Given the description of an element on the screen output the (x, y) to click on. 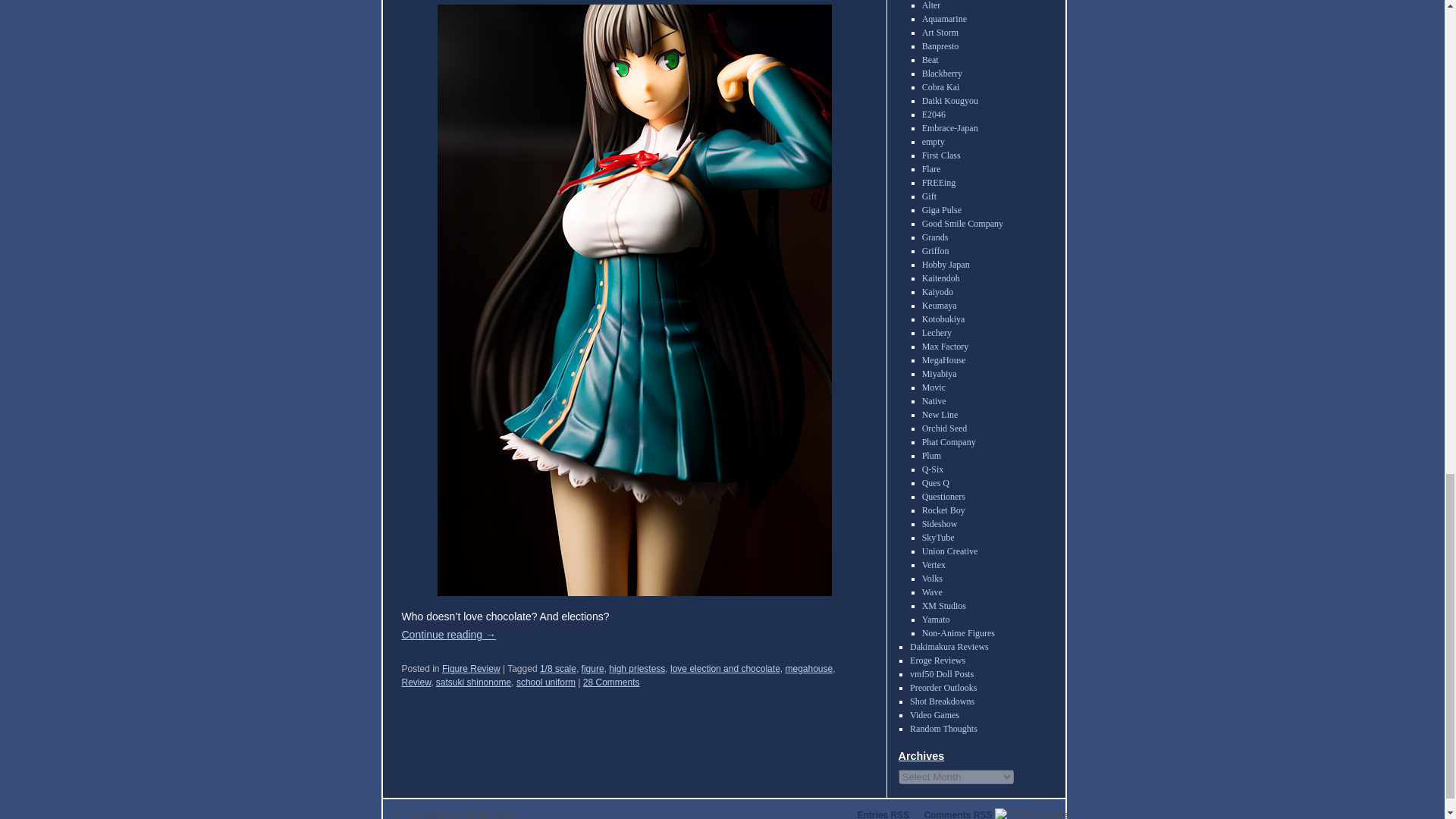
Figure Review (471, 668)
Review (415, 682)
love election and chocolate (724, 668)
megahouse (808, 668)
figure (592, 668)
school uniform (545, 682)
28 Comments (611, 682)
satsuki shinonome (473, 682)
high priestess (636, 668)
